Given the description of an element on the screen output the (x, y) to click on. 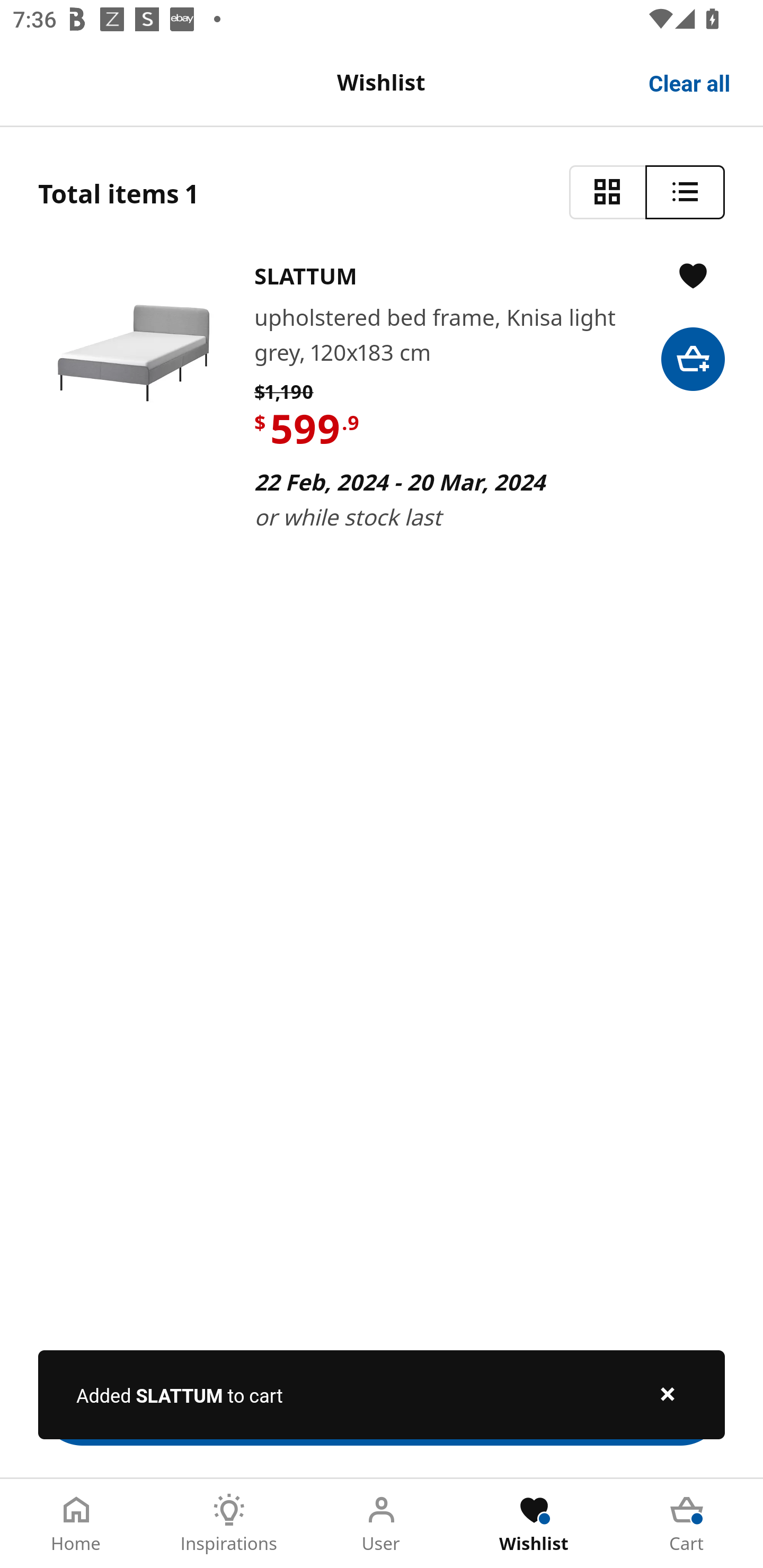
Clear all (689, 81)
Add available items to cart (381, 1400)
Home
Tab 1 of 5 (76, 1522)
Inspirations
Tab 2 of 5 (228, 1522)
User
Tab 3 of 5 (381, 1522)
Wishlist
Tab 4 of 5 (533, 1522)
Cart
Tab 5 of 5 (686, 1522)
